Given the description of an element on the screen output the (x, y) to click on. 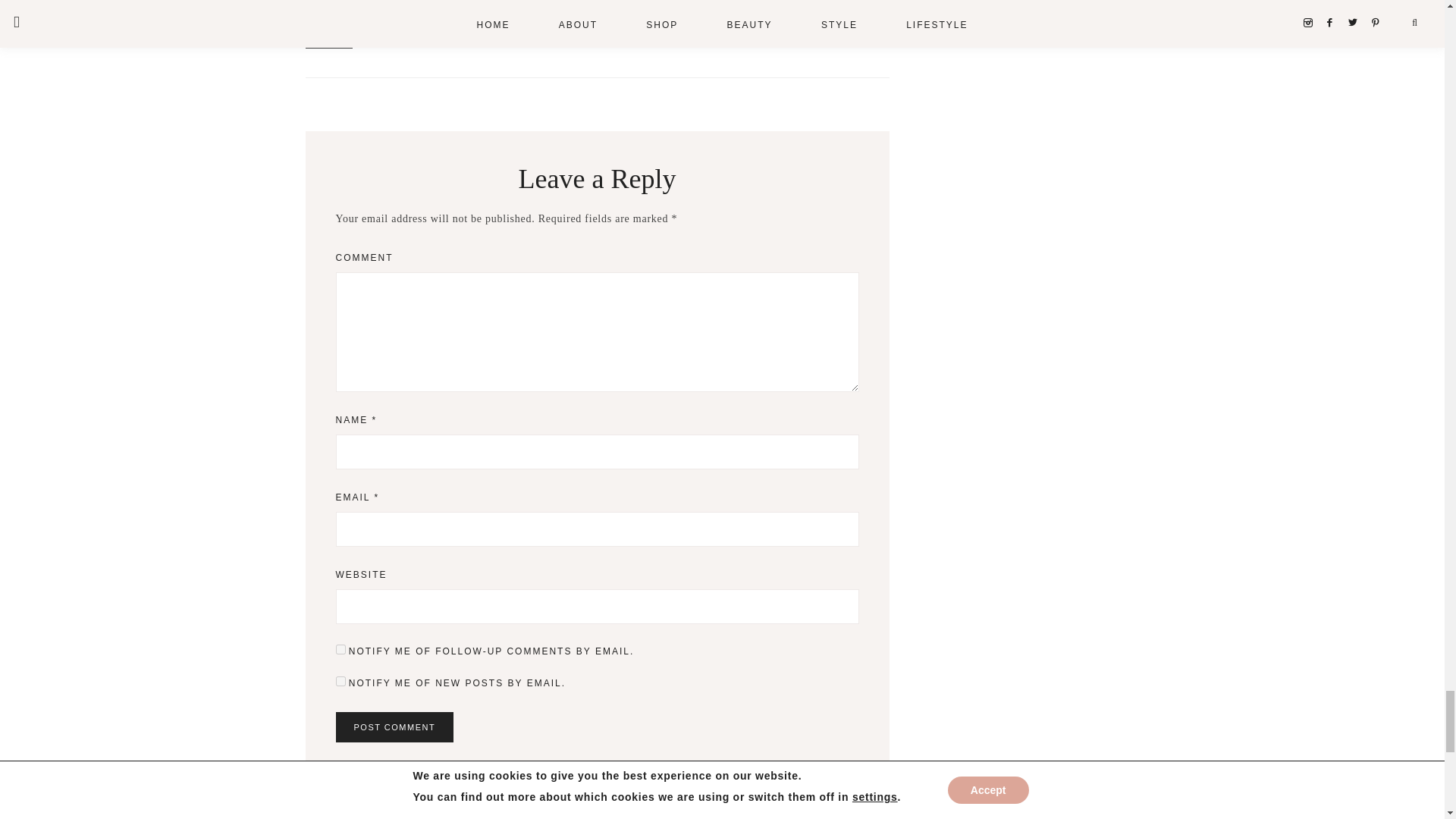
subscribe (339, 681)
subscribe (339, 649)
Post Comment (393, 726)
